Given the description of an element on the screen output the (x, y) to click on. 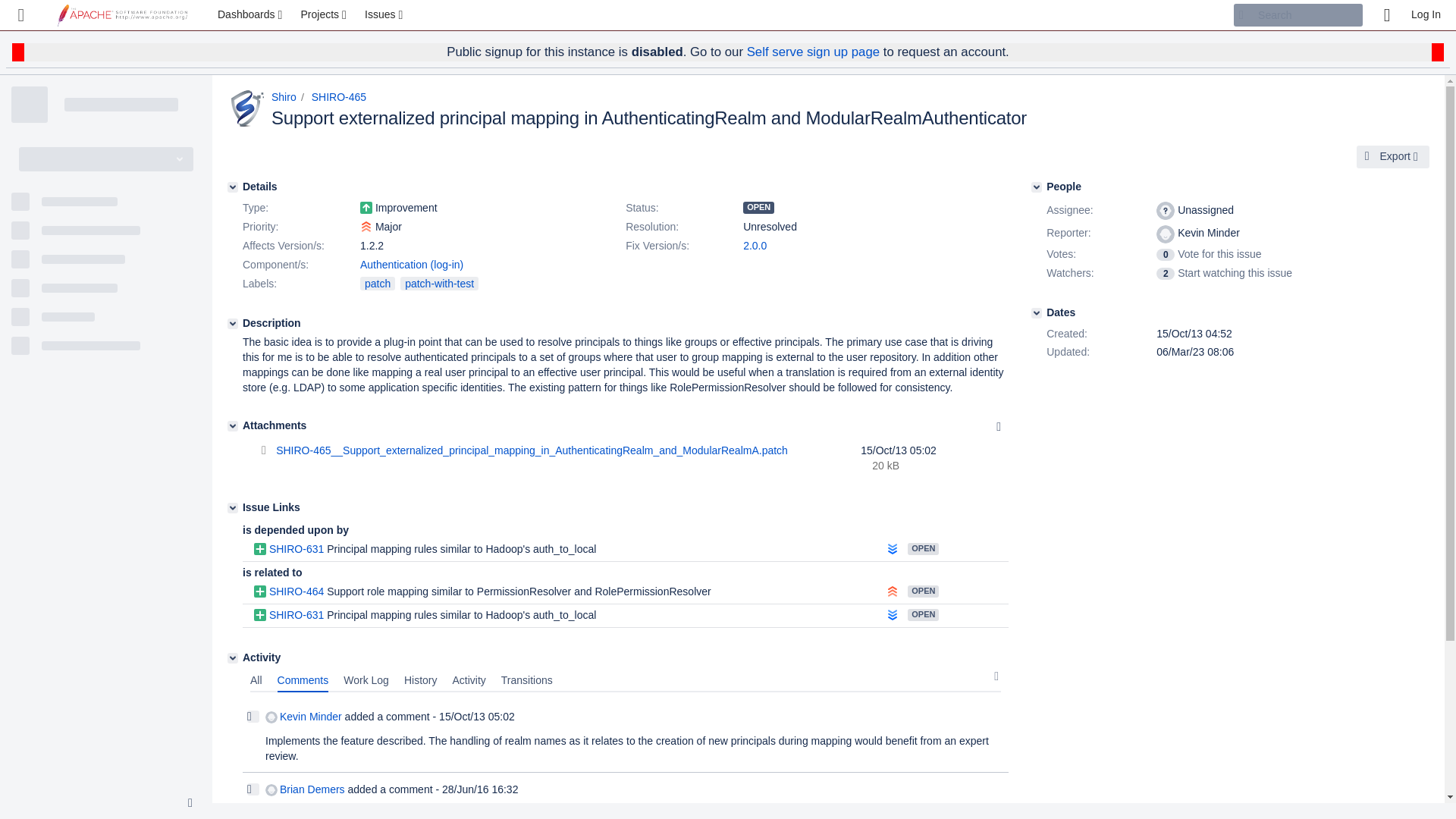
2.0.0 (754, 245)
Projects (324, 15)
Issues (384, 15)
patch (376, 283)
View recent projects and browse a list of projects (324, 15)
Type (299, 208)
Search for issues and view recent issues (384, 15)
Log In (1425, 15)
Self serve sign up page (812, 51)
patch-with-test (439, 283)
Shiro (283, 96)
Export (1392, 156)
Dashboards (251, 15)
Help (1386, 15)
View and manage your dashboards (251, 15)
